Given the description of an element on the screen output the (x, y) to click on. 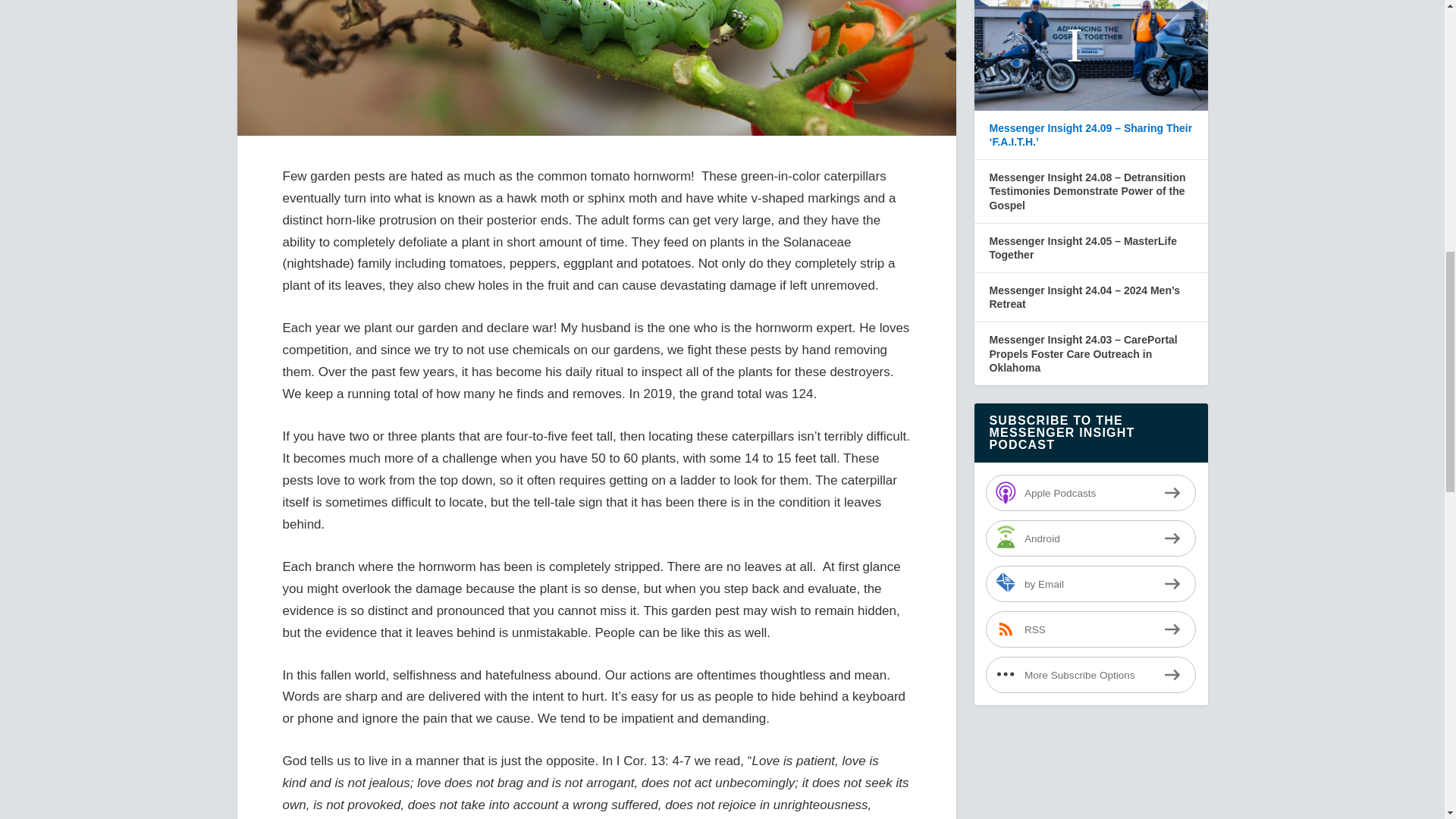
Subscribe on Apple Podcasts (1090, 493)
Subscribe by Email (1090, 583)
Subscribe on Android (1090, 538)
